Given the description of an element on the screen output the (x, y) to click on. 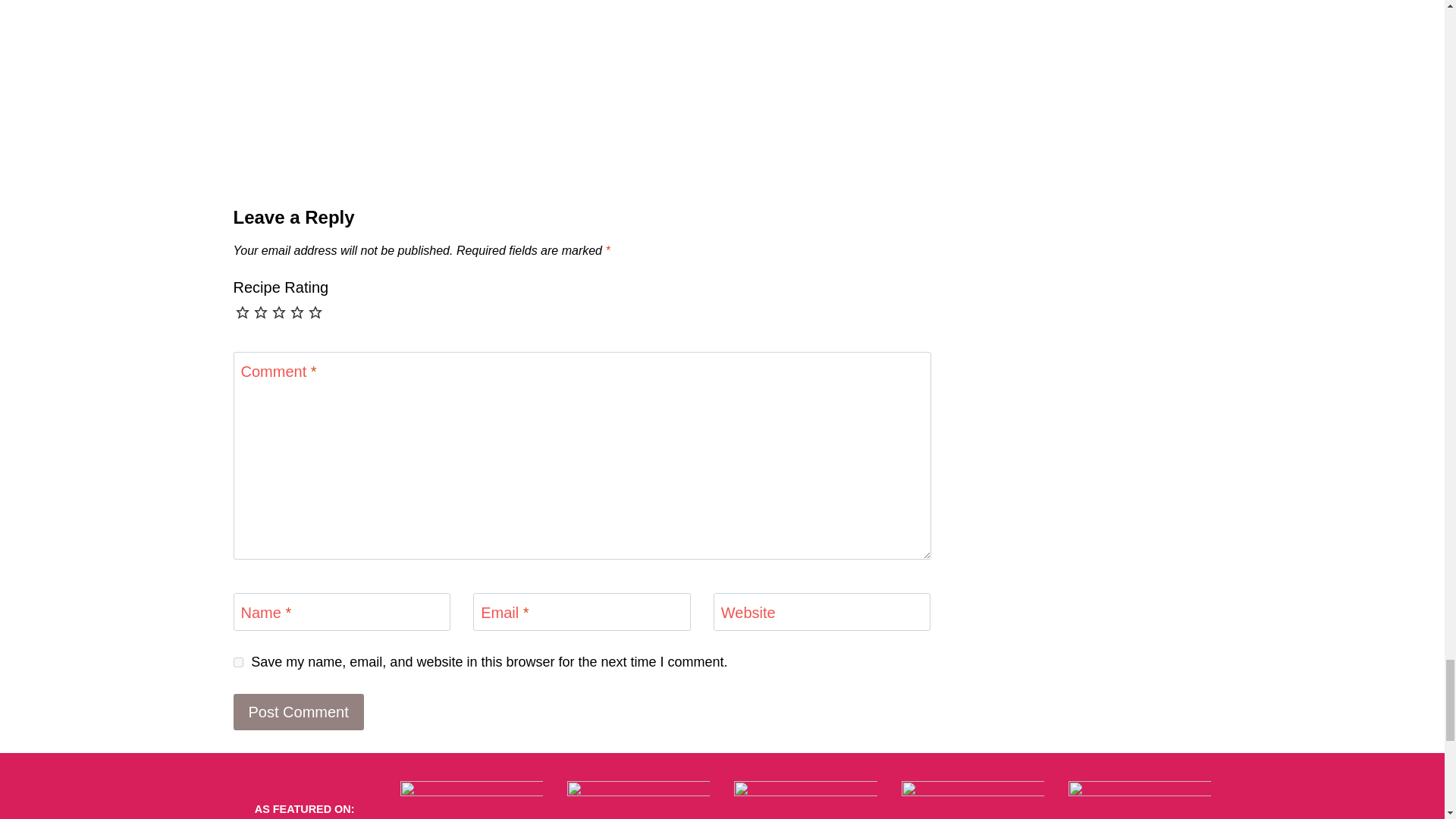
Post Comment (298, 711)
Post Comment (298, 711)
yes (237, 662)
